Given the description of an element on the screen output the (x, y) to click on. 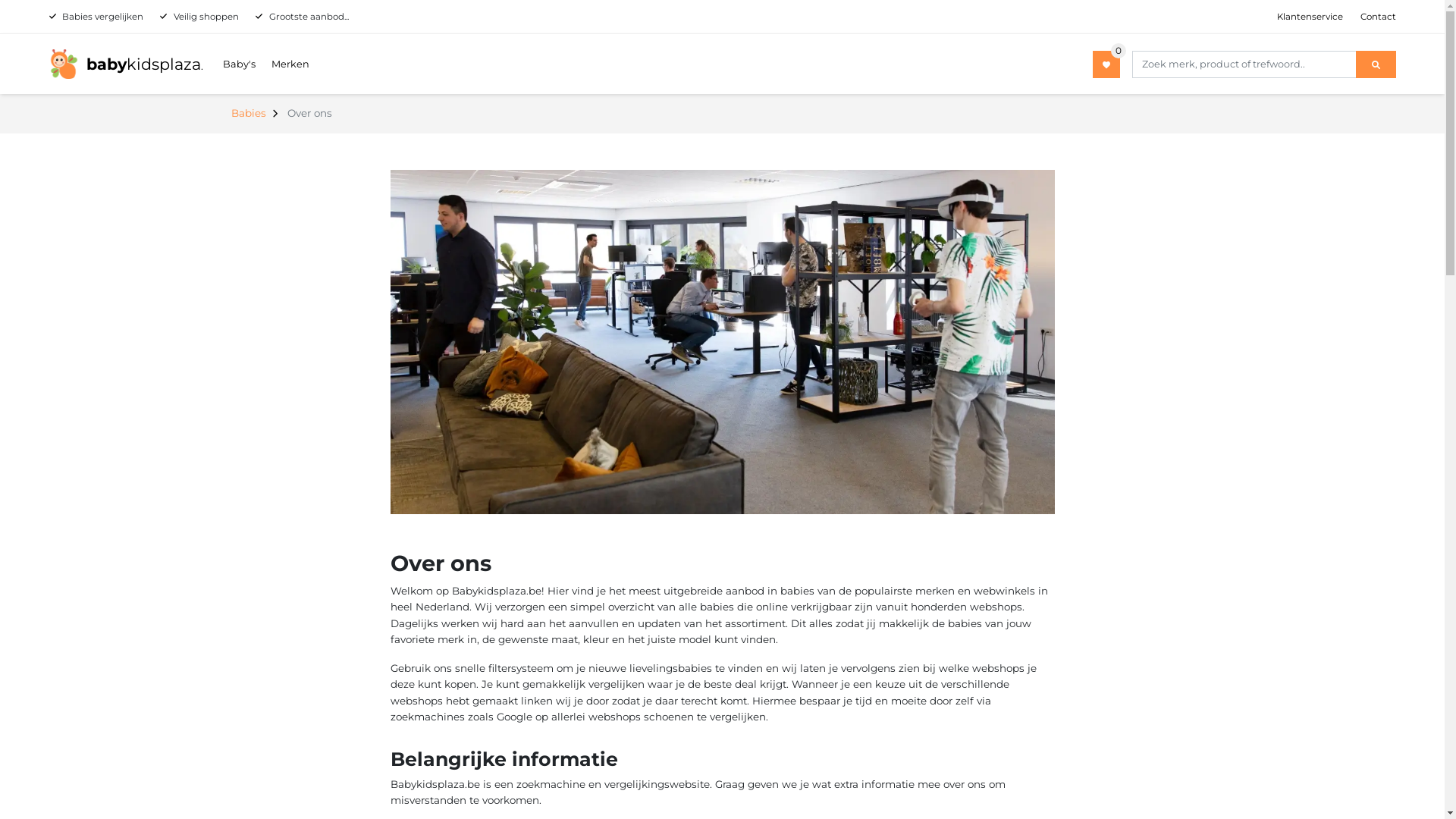
babykidsplaza. Element type: text (125, 64)
Verlanglijst Element type: hover (1106, 64)
Babies Element type: text (247, 112)
Merken Element type: text (289, 63)
Klantenservice Element type: text (1310, 16)
Baby's Element type: text (239, 63)
Contact Element type: text (1378, 16)
